Given the description of an element on the screen output the (x, y) to click on. 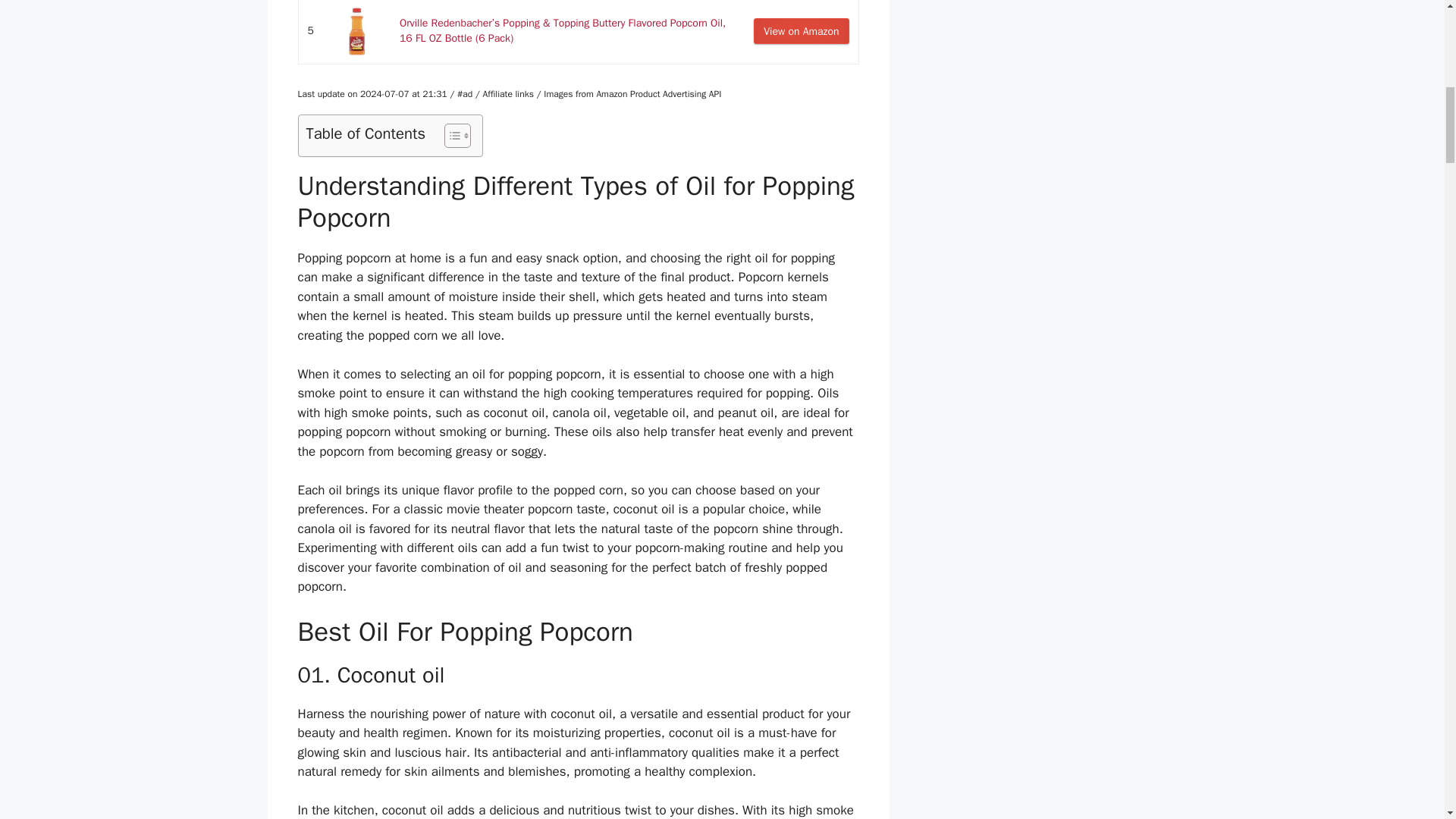
View on Amazon (801, 31)
